Given the description of an element on the screen output the (x, y) to click on. 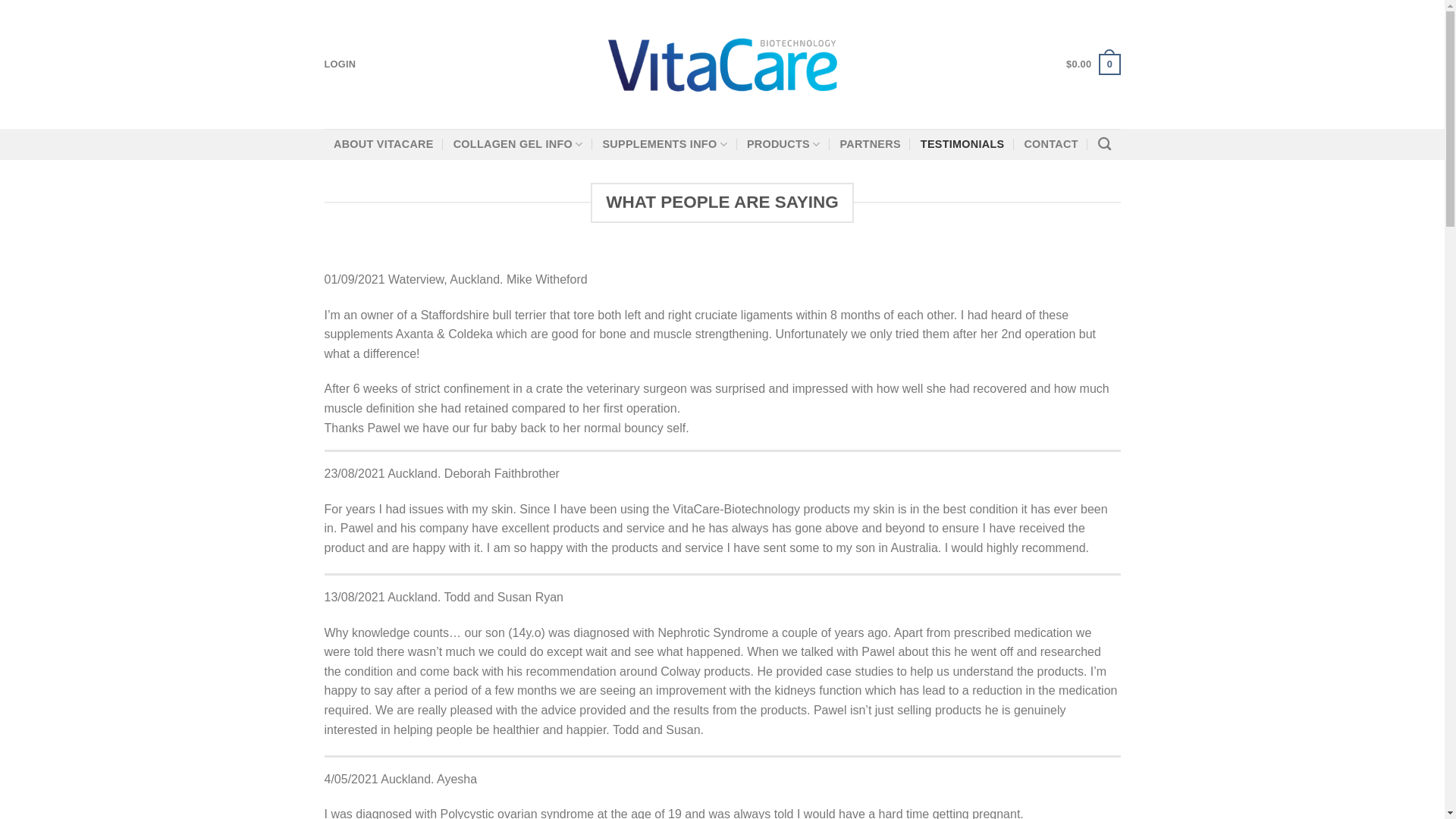
COLLAGEN GEL INFO (517, 143)
ABOUT VITACARE (383, 144)
CONTACT (1050, 144)
PARTNERS (869, 144)
Cart (1092, 64)
PRODUCTS (783, 143)
SUPPLEMENTS INFO (664, 143)
TESTIMONIALS (962, 144)
LOGIN (340, 64)
VitaCare Biotechnology - VitaCare Biotechnology (722, 64)
